Given the description of an element on the screen output the (x, y) to click on. 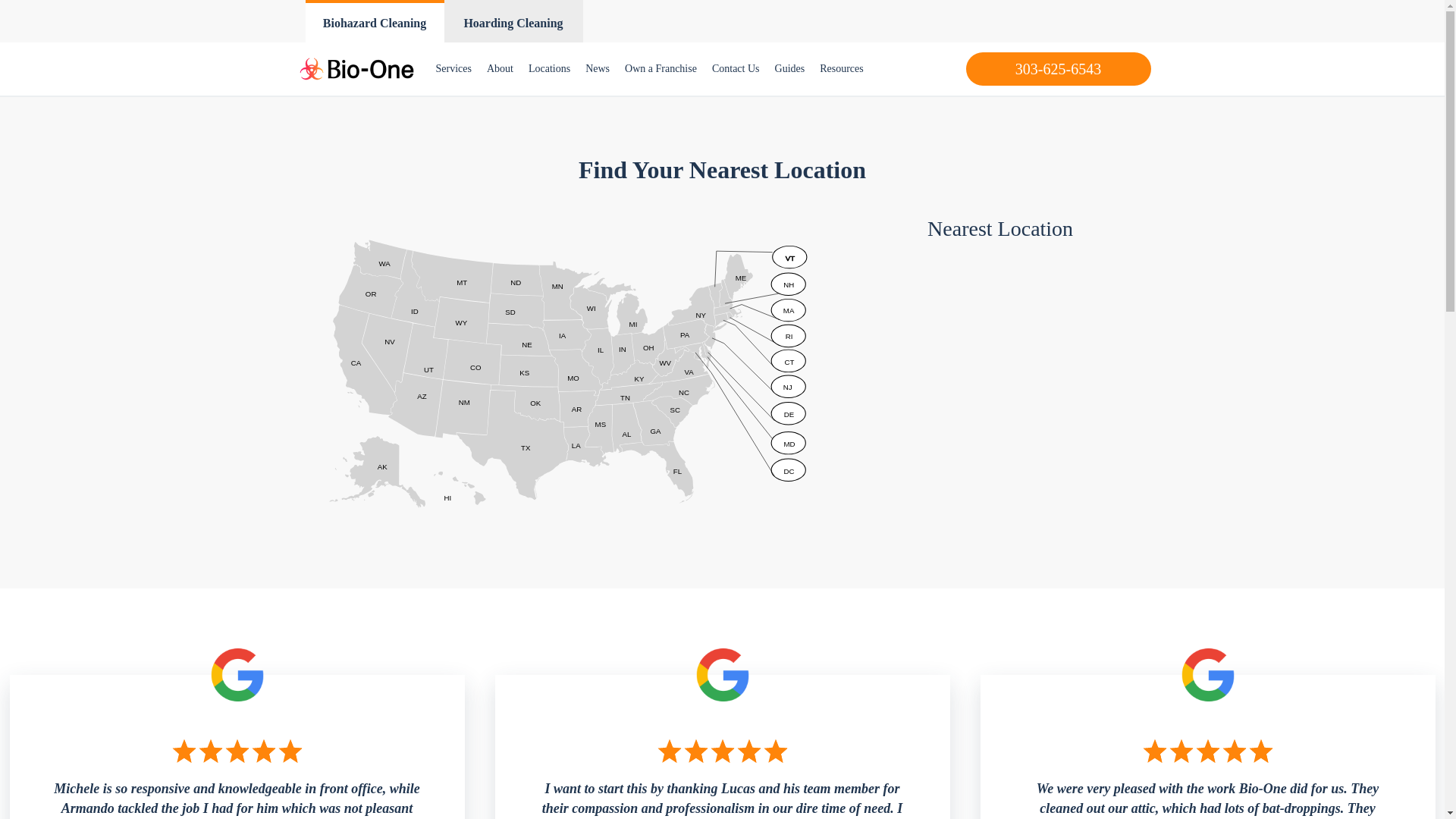
Own a Franchise (660, 68)
Guides (789, 68)
303-625-6543 (1058, 68)
Contact Us (735, 68)
Services (453, 68)
Biohazard Cleaning (374, 21)
Resources (841, 68)
Locations (549, 68)
Hoarding Cleaning (513, 21)
